Given the description of an element on the screen output the (x, y) to click on. 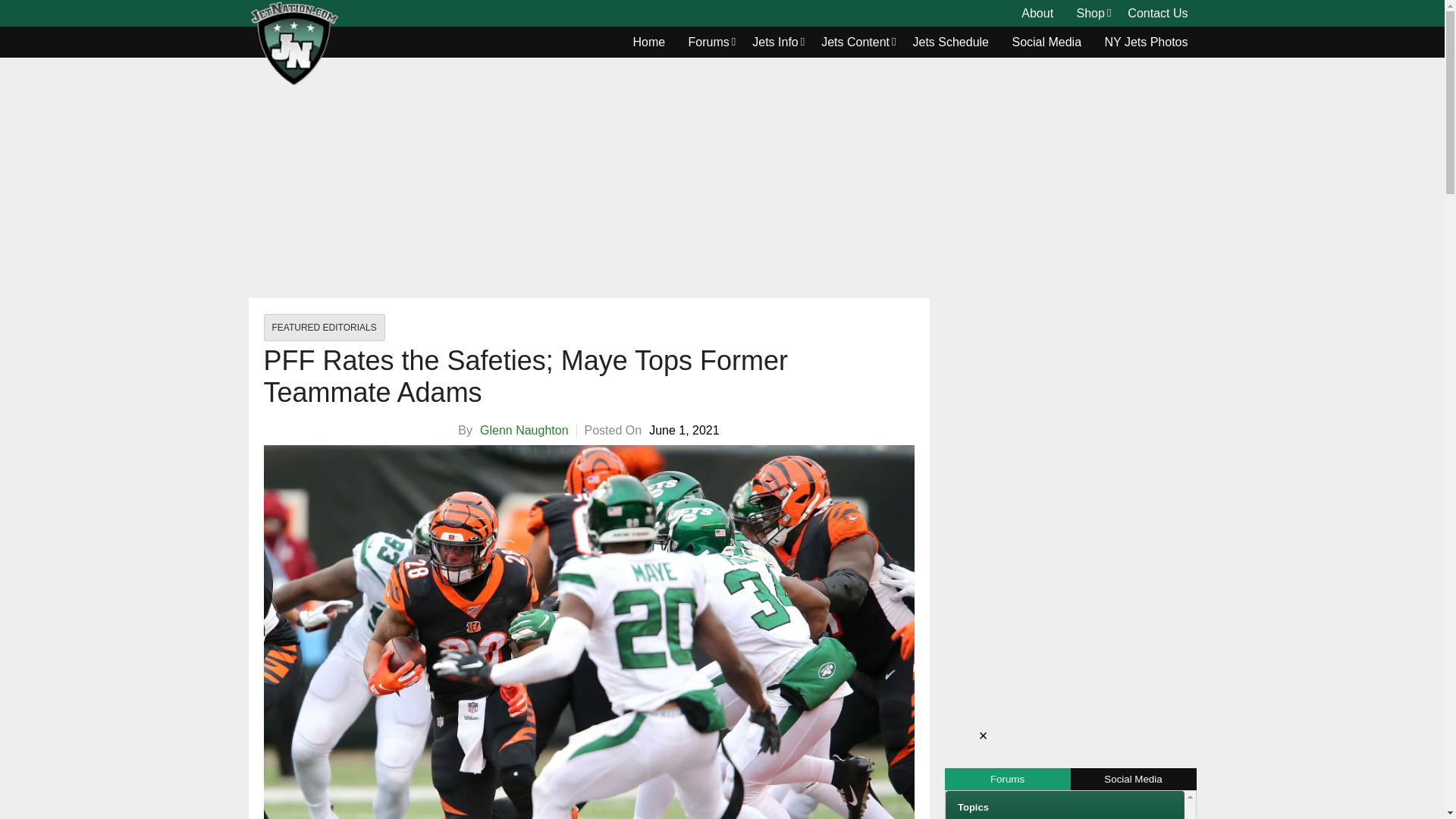
NY Jets Photos (1146, 41)
Social Media (1046, 41)
Contact Us (1157, 13)
About (1037, 13)
FEATURED EDITORIALS (324, 327)
Jets Schedule (950, 41)
Shop (1090, 13)
Home (649, 41)
Jets Info (775, 41)
2021-06-01 (684, 430)
Glenn Naughton (524, 430)
NY Jets Social Media (1046, 41)
Jets Content (855, 41)
Forums (709, 41)
